Given the description of an element on the screen output the (x, y) to click on. 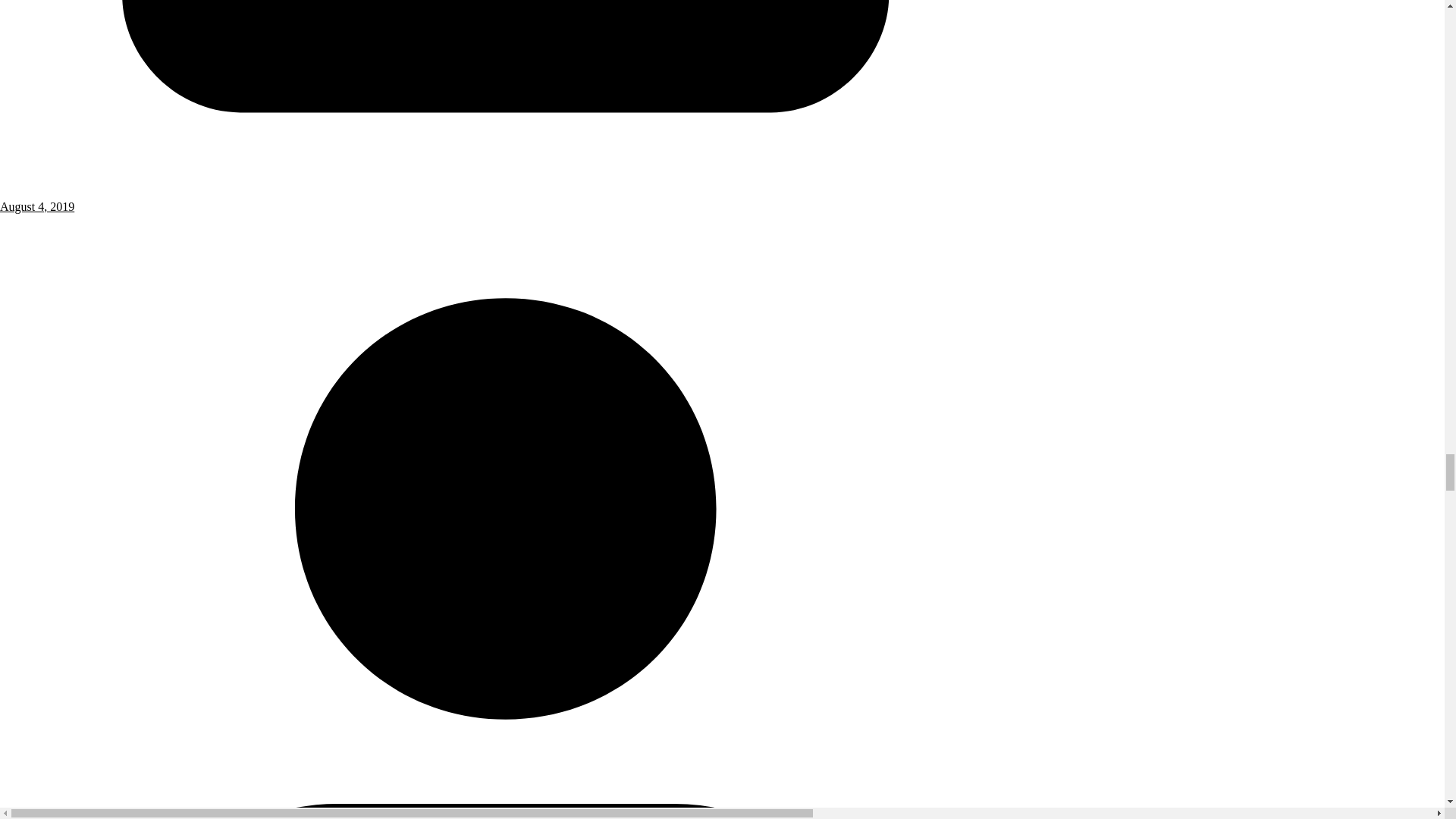
7:24 am (505, 199)
